Given the description of an element on the screen output the (x, y) to click on. 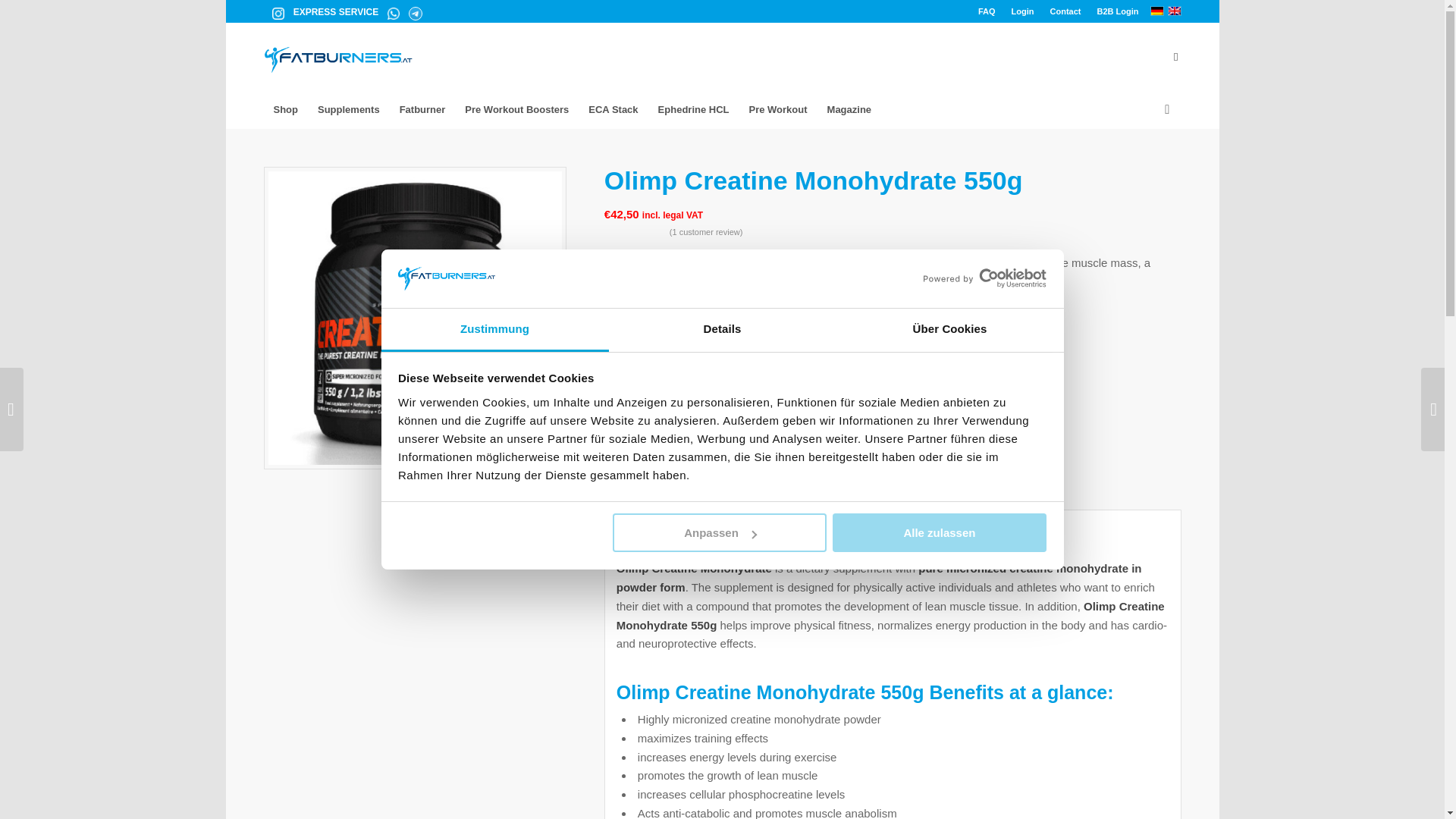
Olimp Creatine Monohydrate 550g (414, 318)
ECA Stack (612, 109)
Anpassen (719, 532)
Ingredients  (644, 484)
Fatburner (422, 109)
Zustimmung (494, 330)
Description  (647, 430)
Ephedrin HCL (693, 109)
Details (721, 330)
Pre Workout Booster (516, 109)
